Given the description of an element on the screen output the (x, y) to click on. 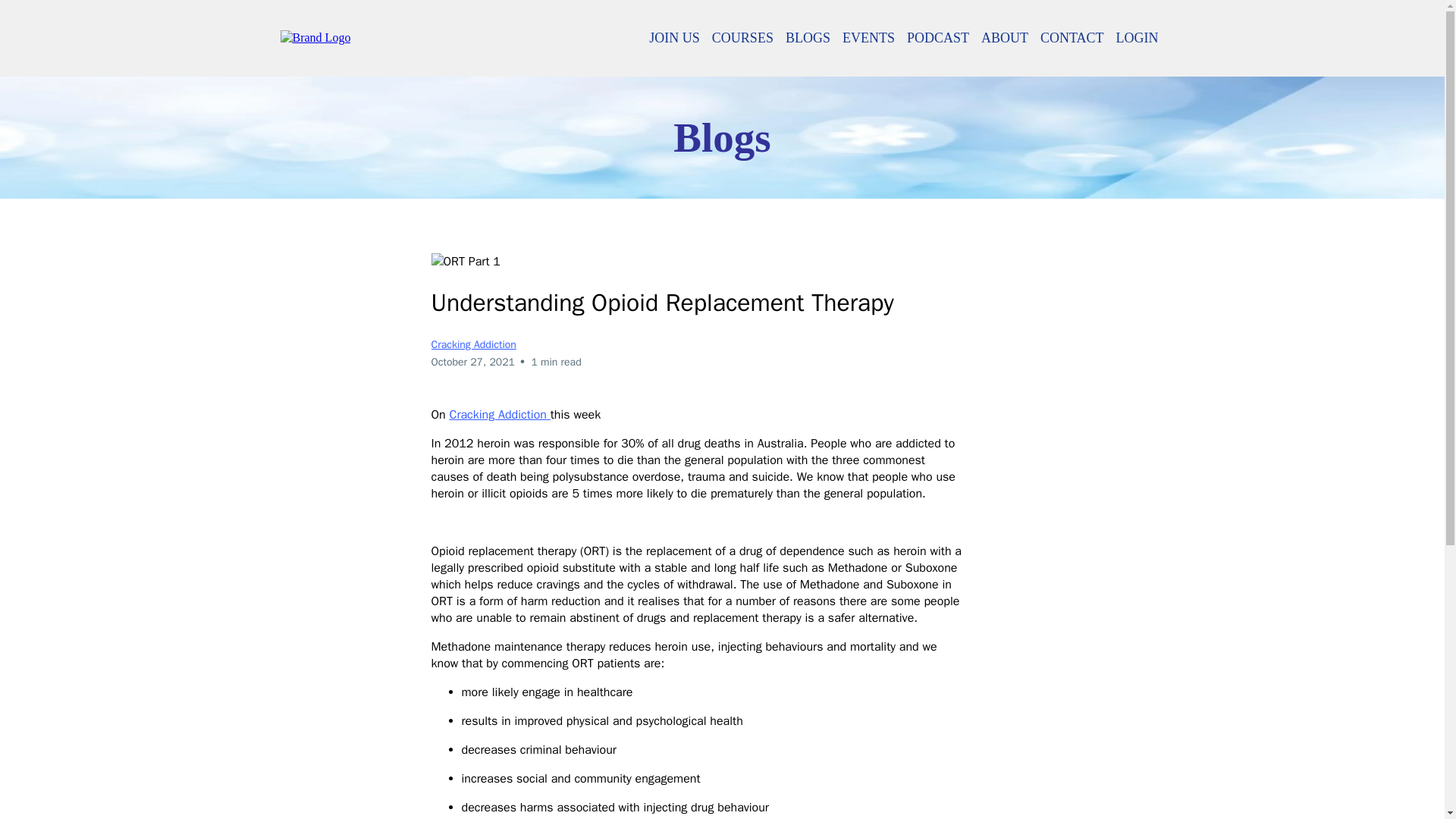
PODCAST (938, 37)
COURSES (742, 37)
EVENTS (868, 37)
CONTACT (1071, 37)
JOIN US (674, 37)
Cracking Addiction (472, 344)
ABOUT (1004, 37)
Cracking Addiction (497, 414)
LOGIN (1136, 37)
BLOGS (806, 37)
